Given the description of an element on the screen output the (x, y) to click on. 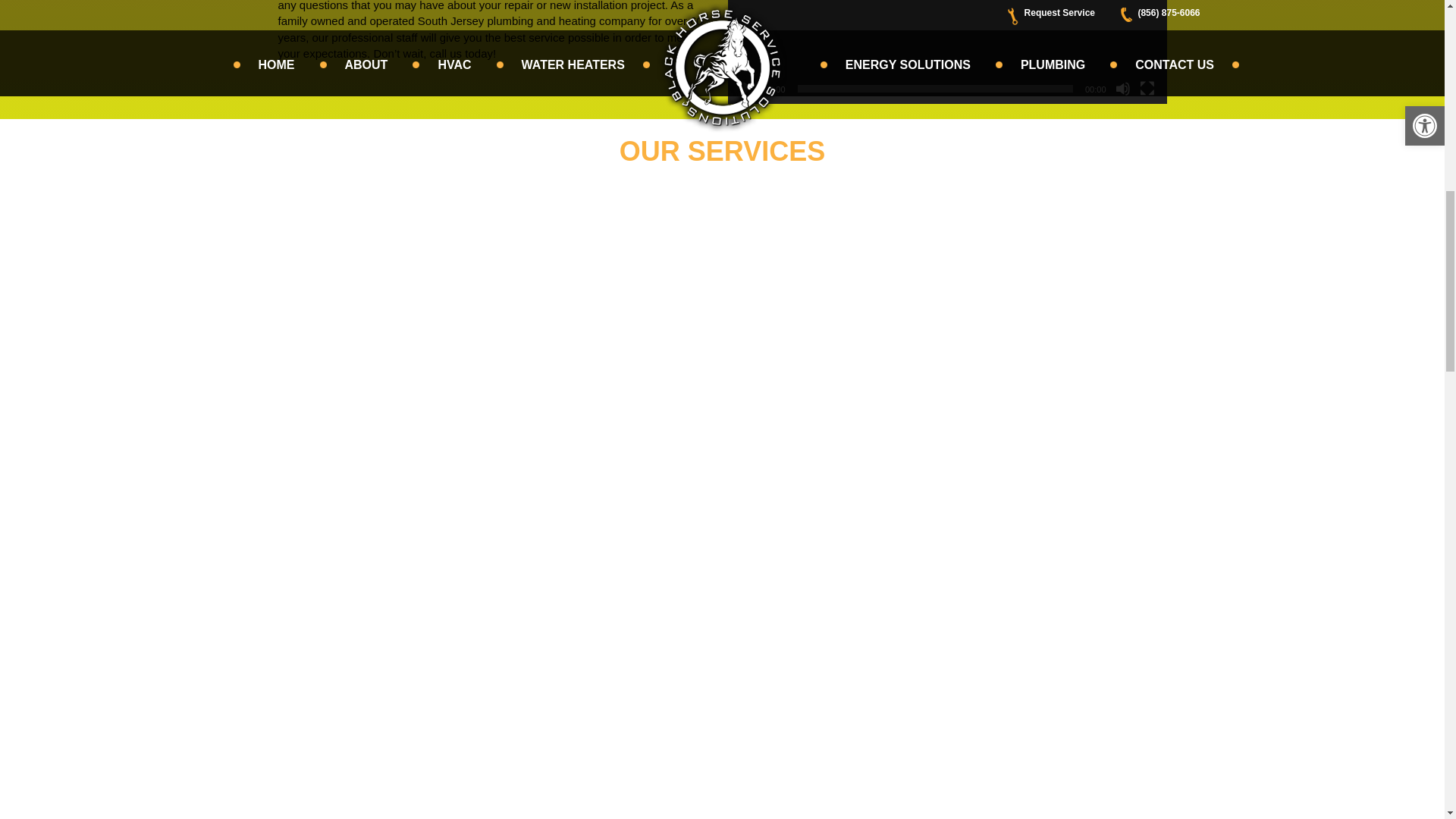
Fullscreen (1146, 88)
Play (747, 88)
Mute (1122, 88)
